Given the description of an element on the screen output the (x, y) to click on. 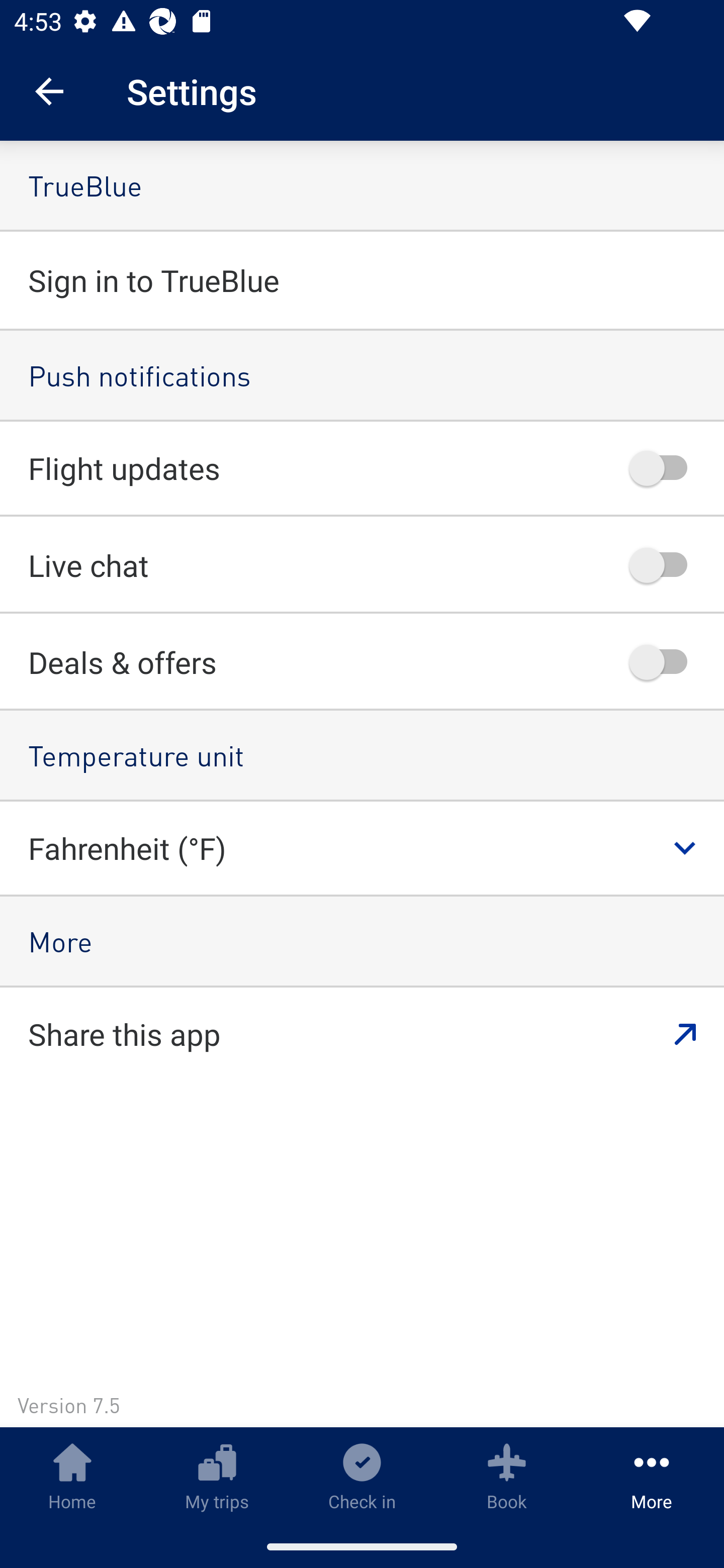
Navigate up (49, 91)
Sign in to TrueBlue (362, 279)
Fahrenheit (°F) (376, 847)
Share this app (362, 1033)
Home (72, 1475)
My trips (216, 1475)
Check in (361, 1475)
Book (506, 1475)
